Given the description of an element on the screen output the (x, y) to click on. 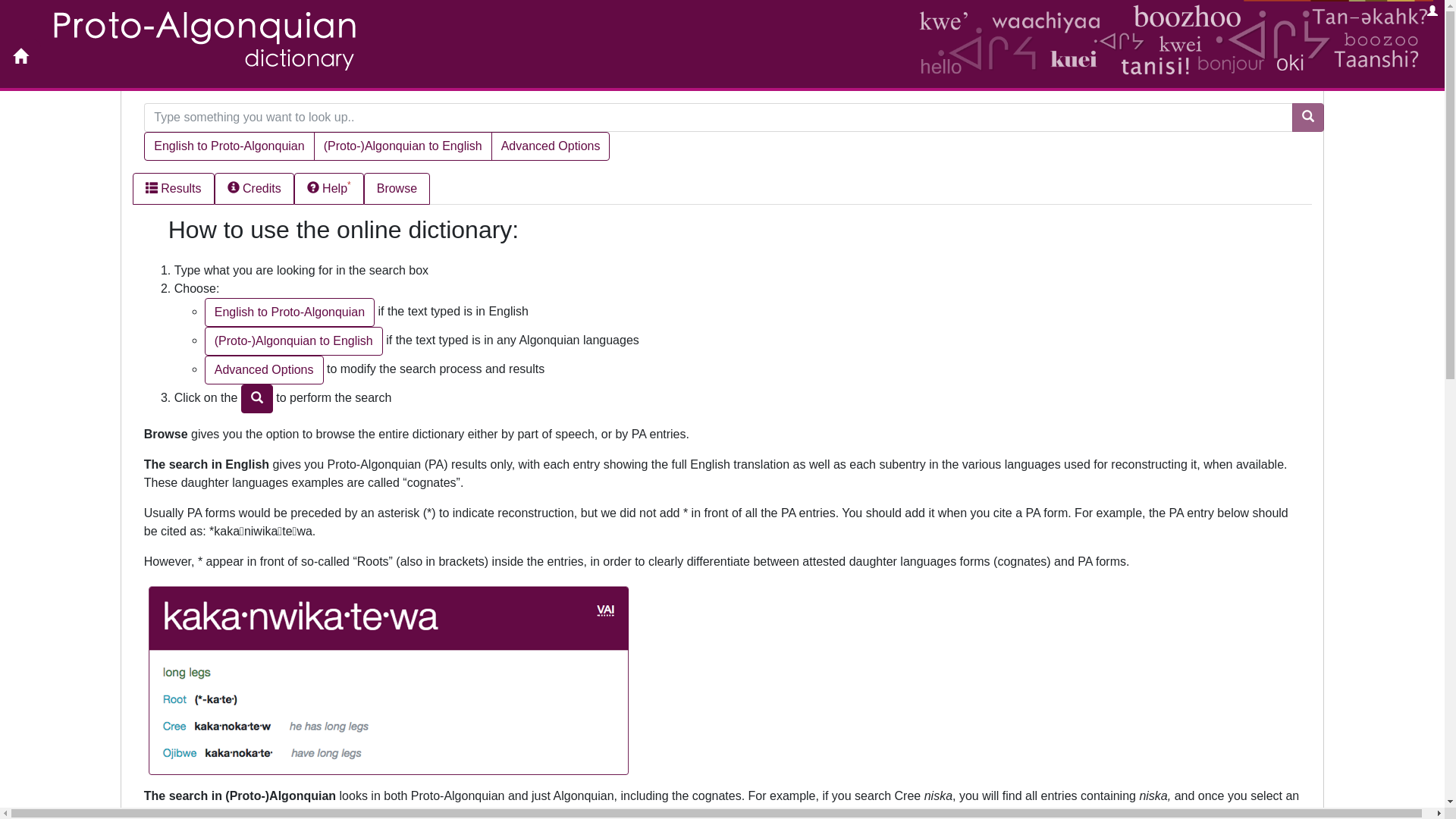
Help* Element type: text (329, 188)
Results Element type: text (173, 188)
Credits Element type: text (254, 188)
Browse Element type: text (396, 188)
